Given the description of an element on the screen output the (x, y) to click on. 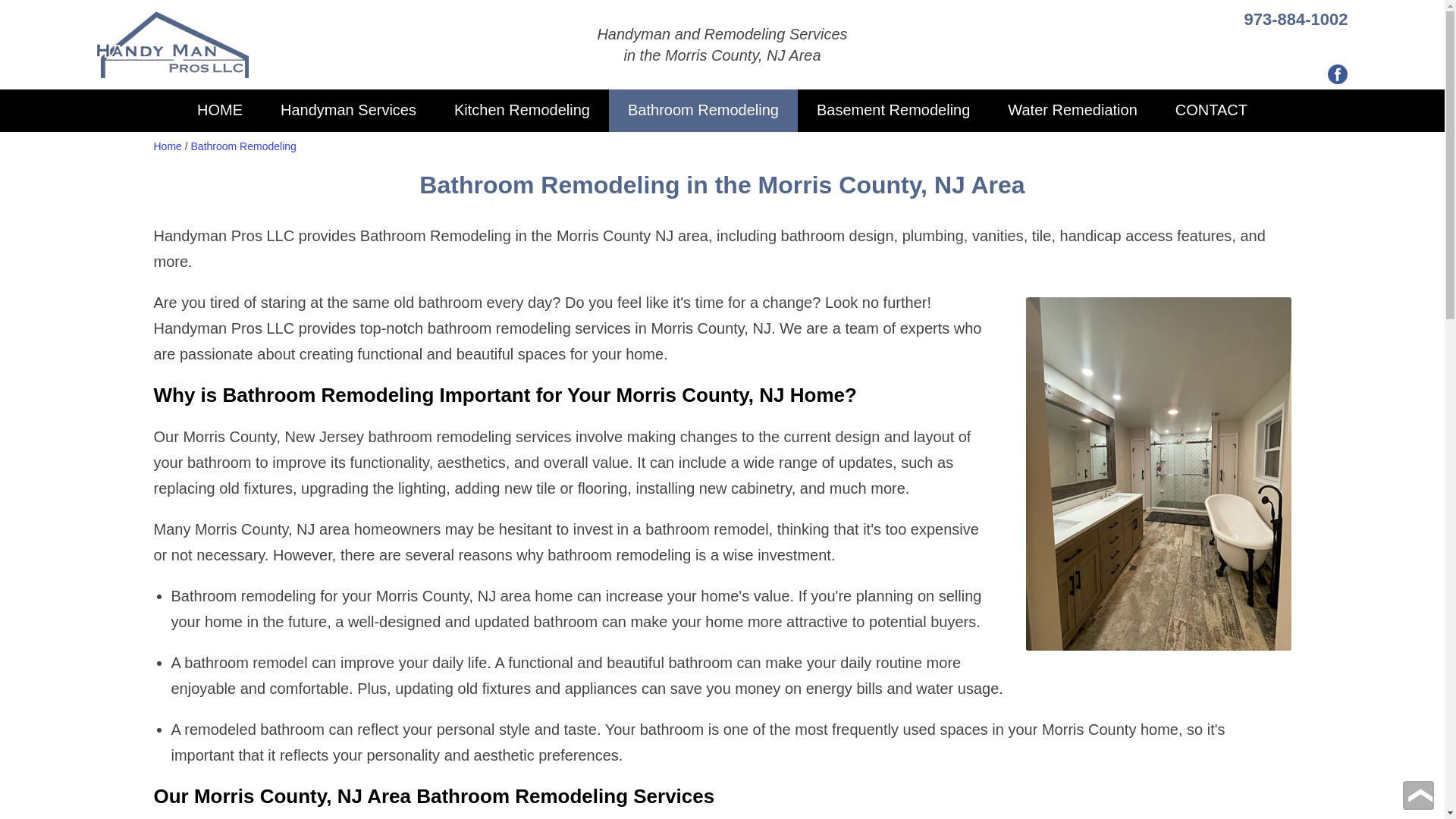
Bathroom Remodeling (702, 110)
CONTACT (1211, 110)
HOME (219, 110)
Home (166, 146)
Bathroom Remodeling (243, 146)
Basement Remodeling (892, 110)
Facebook (1336, 74)
Handyman Services (348, 110)
973-884-1002 (1295, 18)
Water Remediation (1072, 110)
Kitchen Remodeling (521, 110)
